Given the description of an element on the screen output the (x, y) to click on. 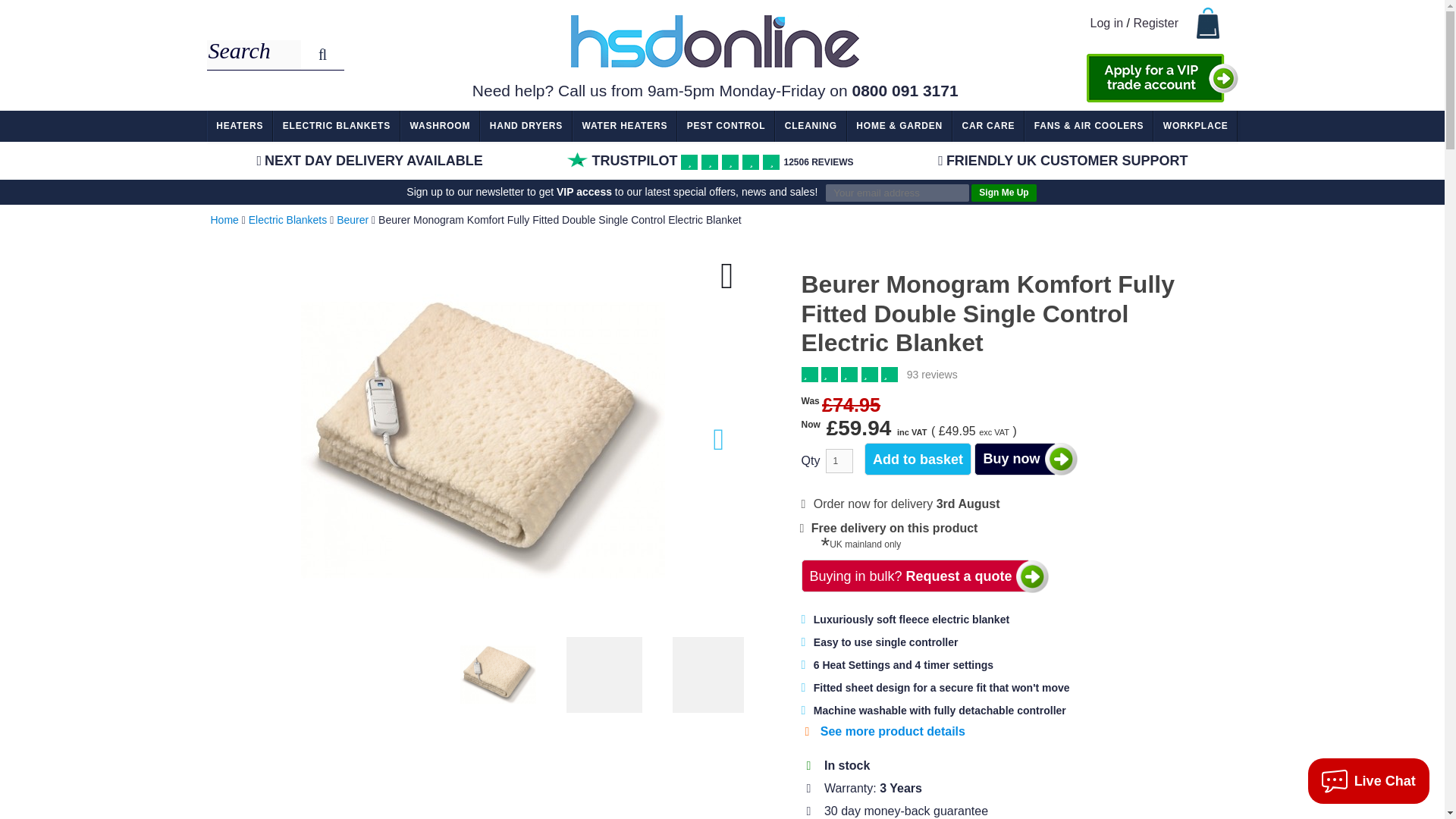
Sign Me Up (1003, 192)
1 (839, 460)
Log in (1107, 22)
Buy now (1015, 459)
ELECTRIC BLANKETS (336, 126)
Add to basket (917, 459)
HEATERS (239, 126)
Open a trade account (1161, 78)
Home (224, 219)
